Given the description of an element on the screen output the (x, y) to click on. 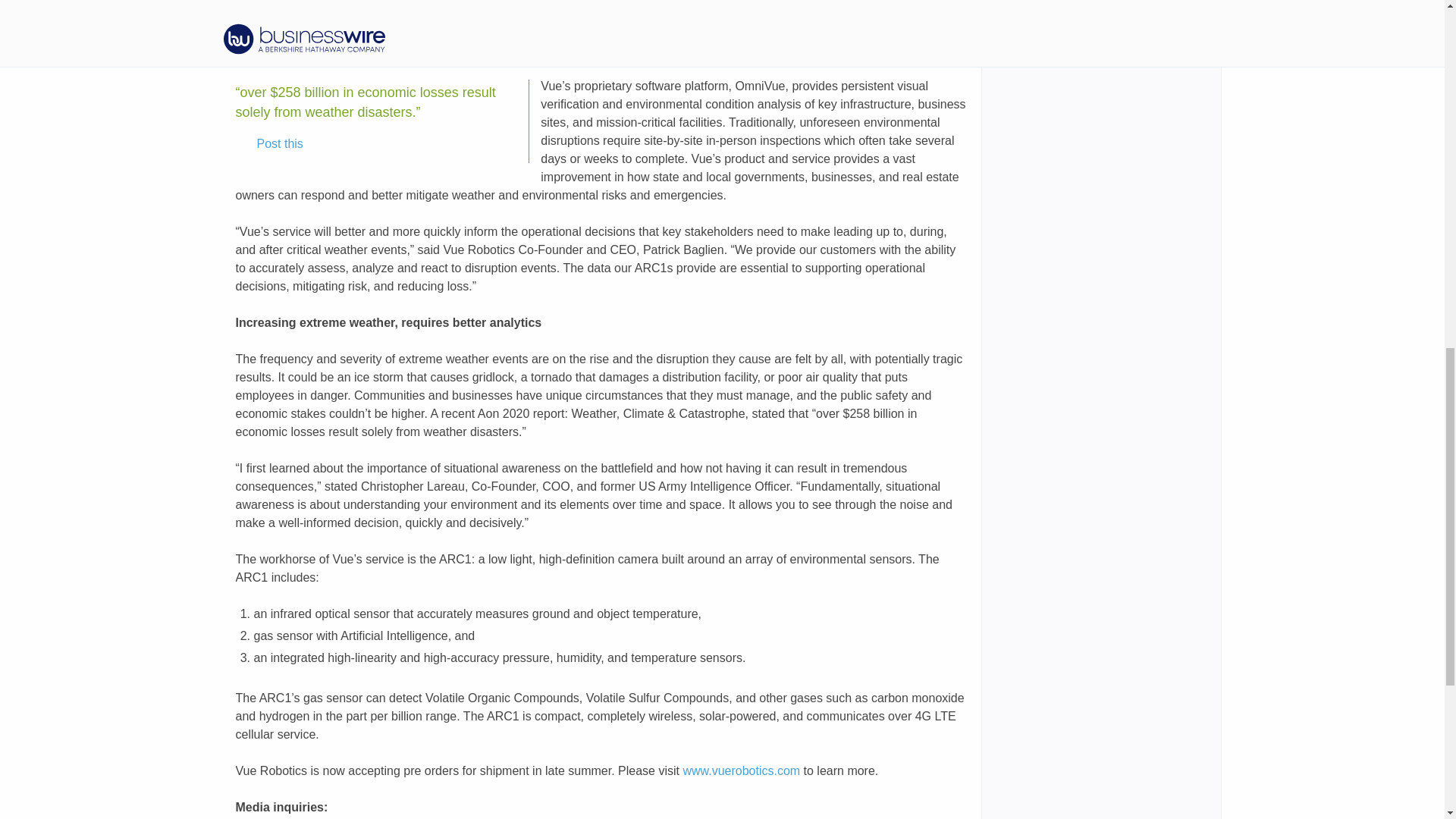
Vue Robotics (547, 12)
www.vuerobotics.com (740, 770)
Post this (269, 143)
BUSINESS WIRE (413, 12)
